Given the description of an element on the screen output the (x, y) to click on. 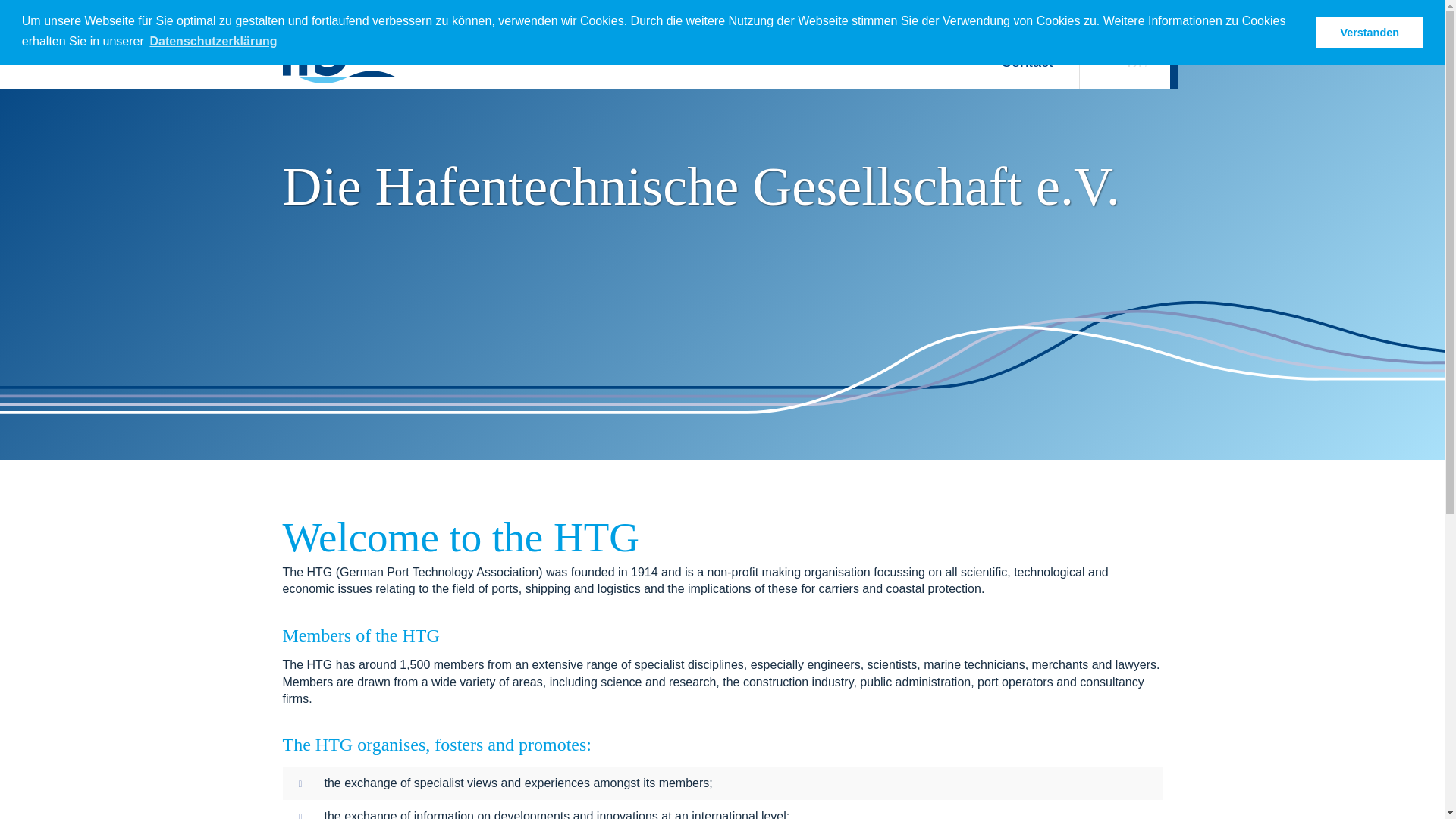
Contact (1026, 59)
Verstanden (1369, 32)
Contact (1026, 59)
DE (1136, 61)
